Given the description of an element on the screen output the (x, y) to click on. 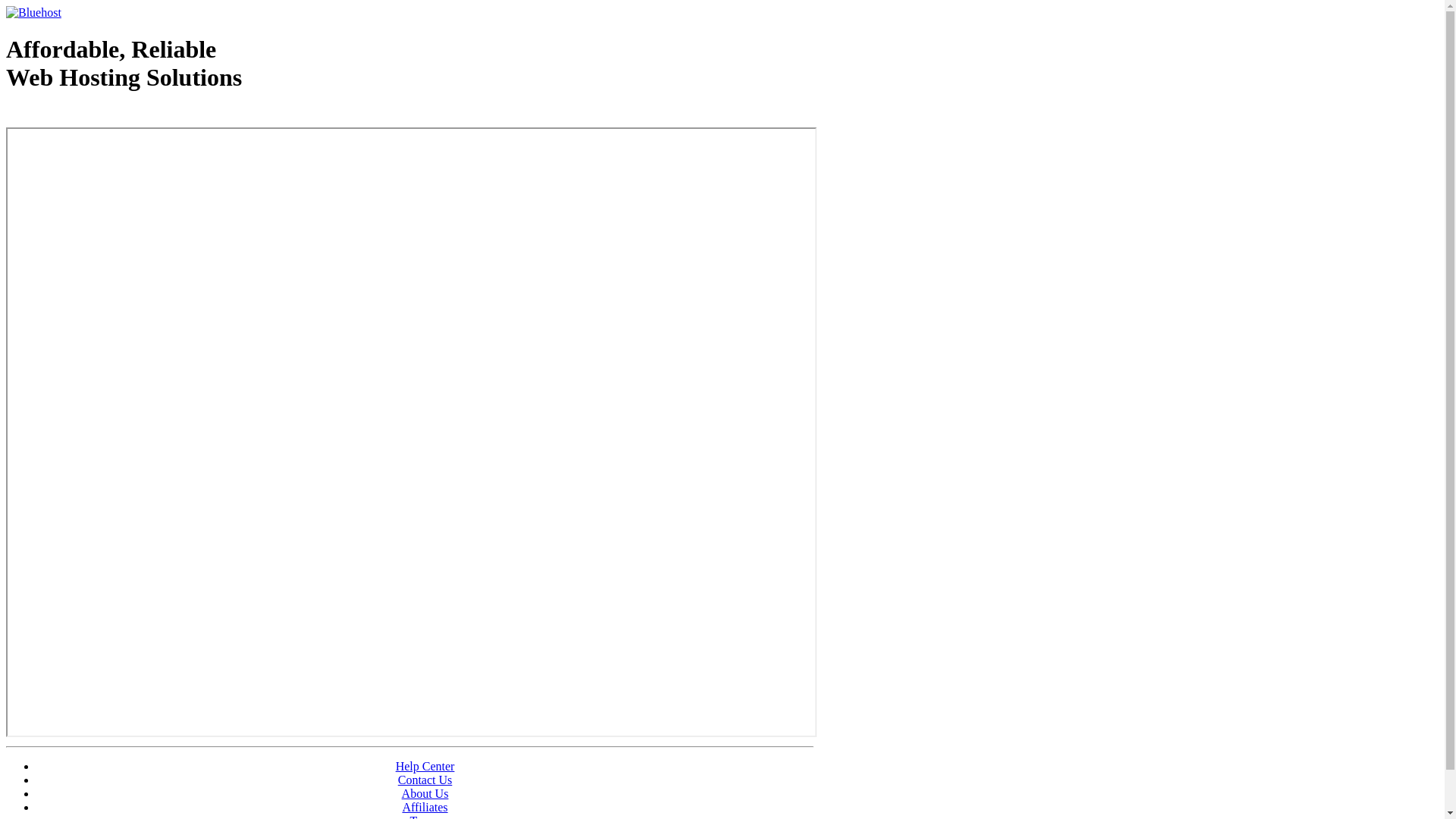
Help Center Element type: text (425, 765)
Web Hosting - courtesy of www.bluehost.com Element type: text (94, 115)
Contact Us Element type: text (425, 779)
Affiliates Element type: text (424, 806)
About Us Element type: text (424, 793)
